Given the description of an element on the screen output the (x, y) to click on. 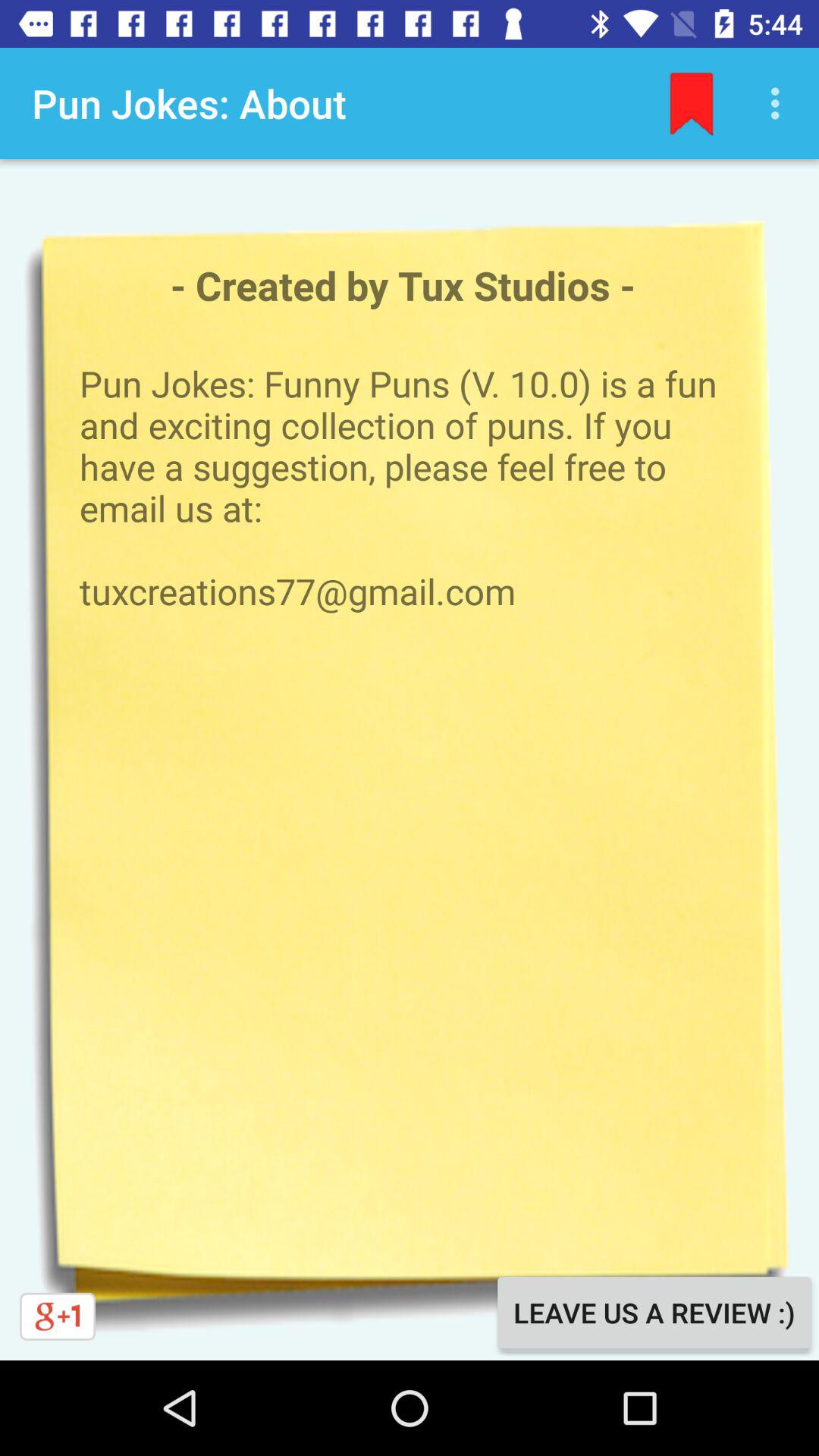
select leave us a (654, 1312)
